Given the description of an element on the screen output the (x, y) to click on. 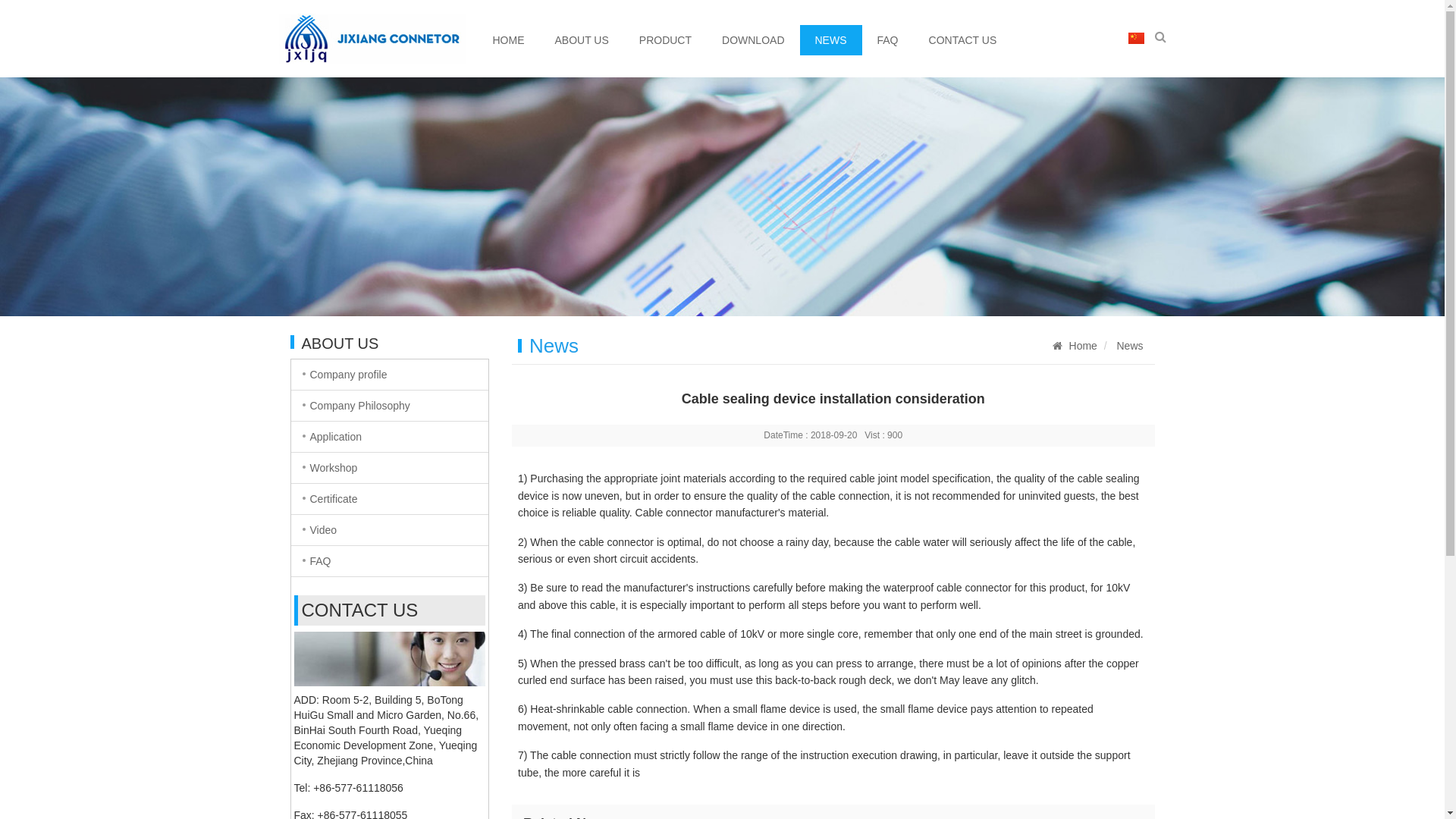
Home Element type: text (1083, 345)
ABOUT US Element type: text (581, 40)
HOME Element type: text (508, 40)
Application Element type: text (390, 436)
FAQ Element type: text (390, 561)
NEWS Element type: text (830, 40)
FAQ Element type: text (887, 40)
Company profile Element type: text (390, 374)
Workshop Element type: text (390, 467)
CONTACT US Element type: text (962, 40)
News Element type: text (1129, 345)
Video Element type: text (390, 529)
PRODUCT Element type: text (665, 40)
Company Philosophy Element type: text (390, 405)
DOWNLOAD Element type: text (752, 40)
Certificate Element type: text (390, 498)
